Given the description of an element on the screen output the (x, y) to click on. 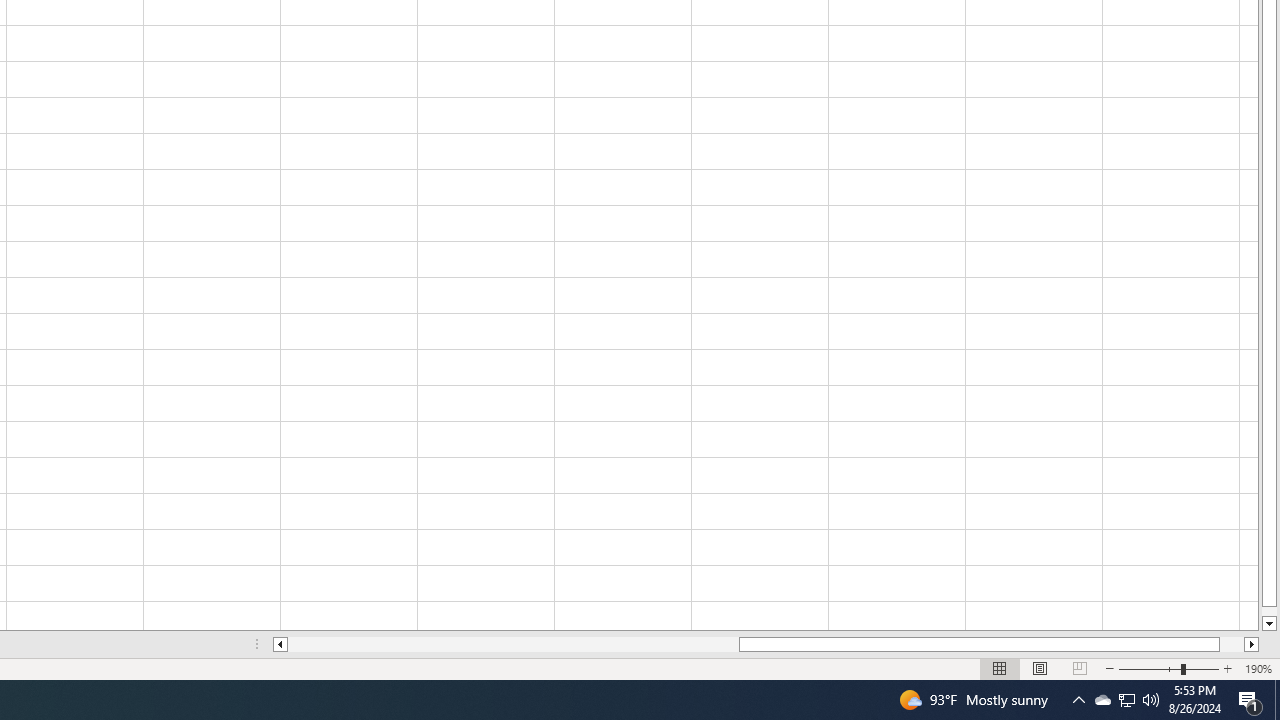
Page right (1231, 644)
Page Layout (1039, 668)
Column left (279, 644)
Zoom Out (1149, 668)
Normal (1000, 668)
Line down (1268, 624)
Page left (513, 644)
Page down (1268, 611)
Page Break Preview (1079, 668)
Class: NetUIScrollBar (765, 644)
Column right (1252, 644)
Zoom In (1227, 668)
Zoom (1168, 668)
